Given the description of an element on the screen output the (x, y) to click on. 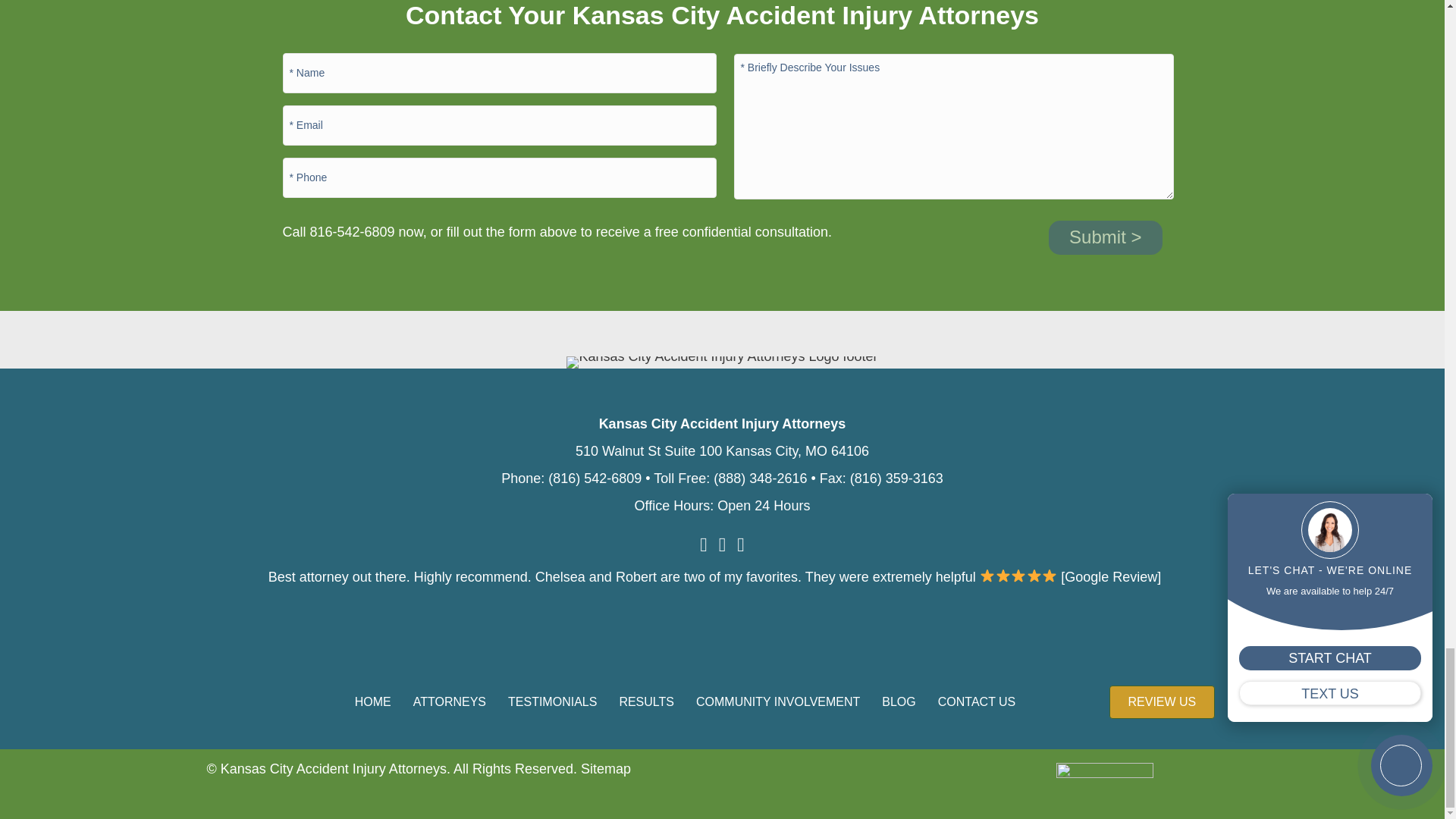
Kansas City Accident Injury Attorneys Logo footer (721, 362)
